Given the description of an element on the screen output the (x, y) to click on. 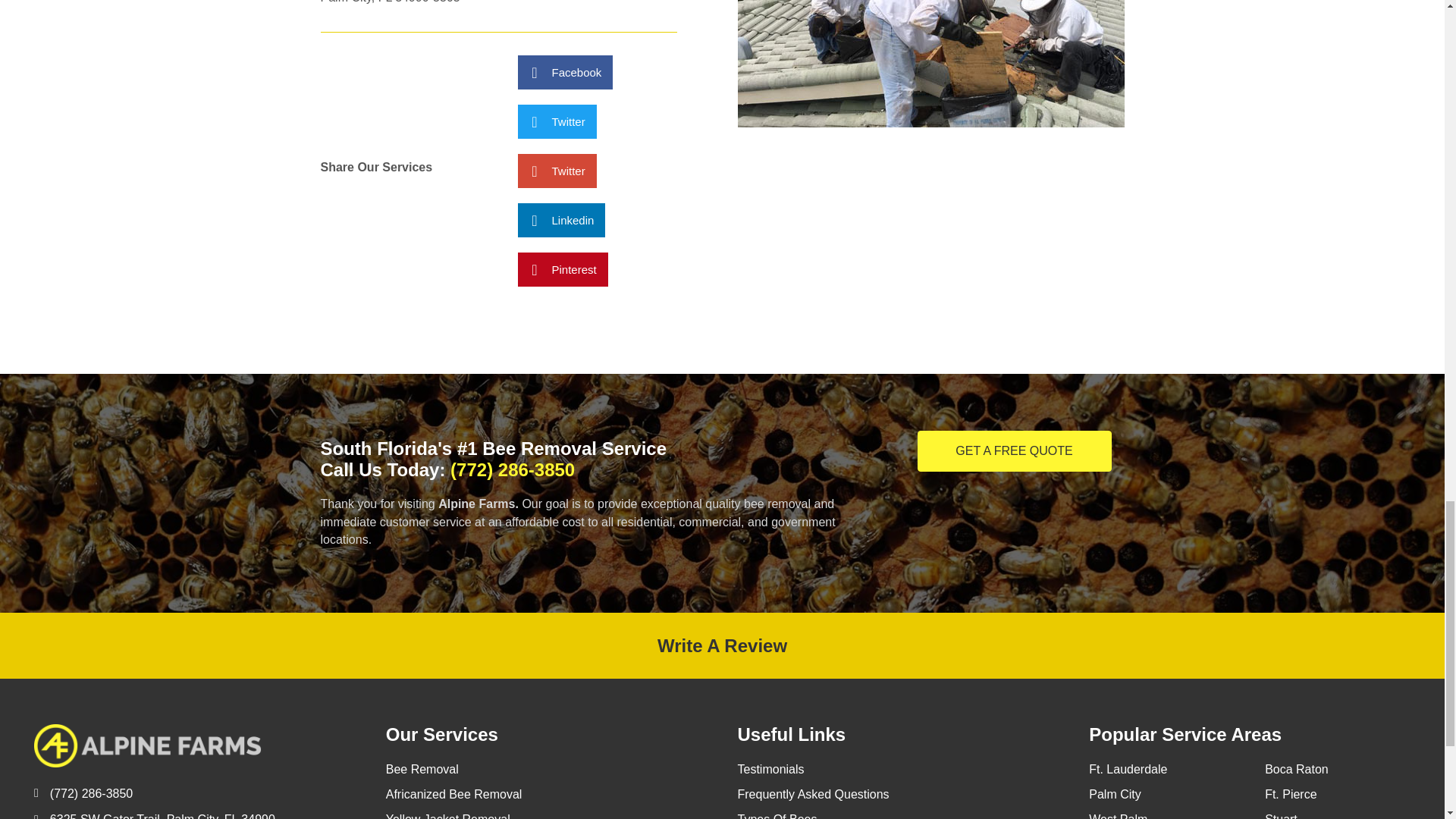
Linkedin (560, 220)
Twitter (555, 121)
Click Here (1014, 450)
Write A Review (722, 645)
logo (147, 745)
Facebook (564, 72)
Twitter (555, 170)
